Given the description of an element on the screen output the (x, y) to click on. 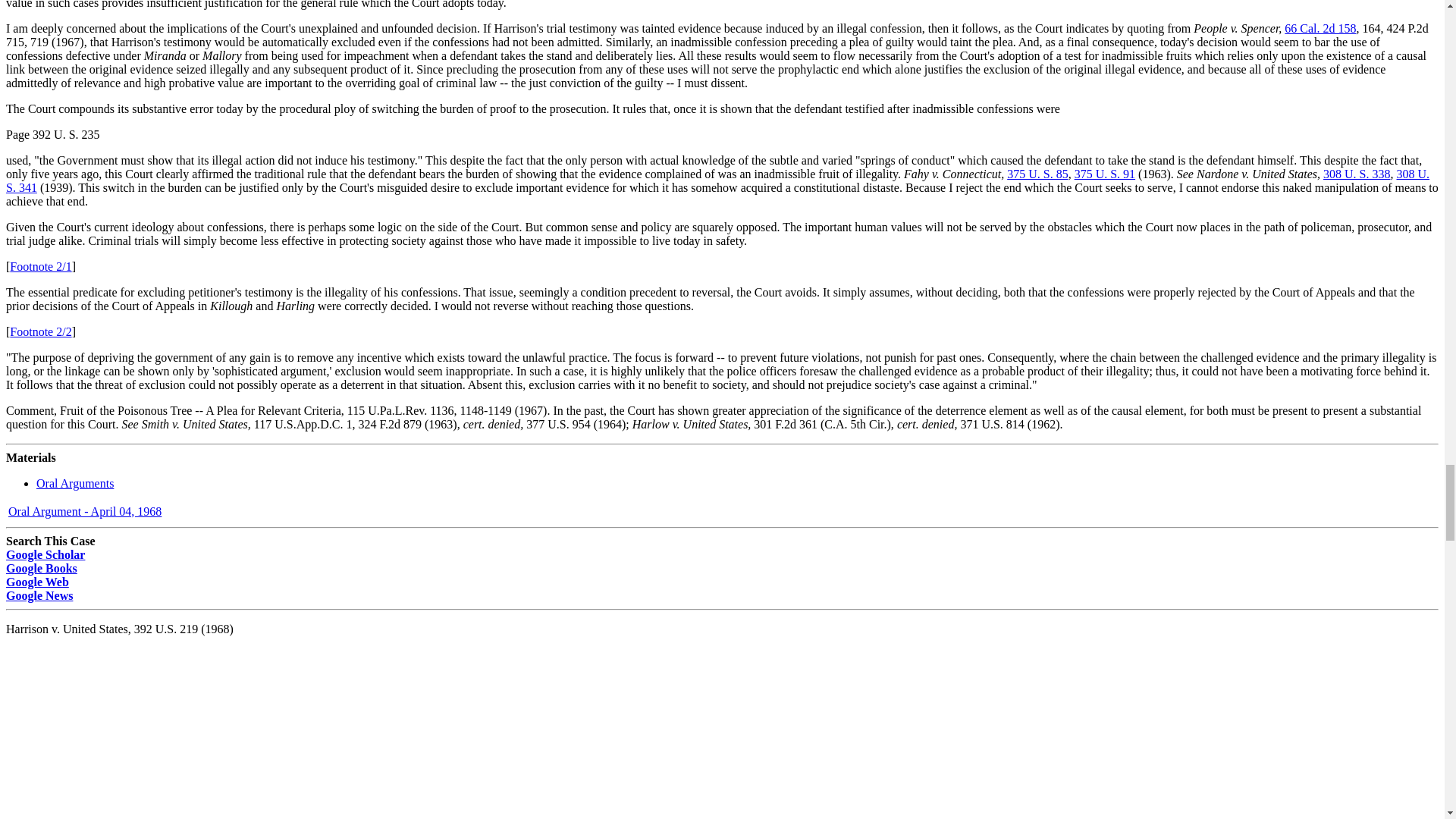
Law - Google Web (36, 581)
Law - Google Books (41, 567)
Law - Google News (38, 594)
Law - Google Scholar (44, 553)
